Given the description of an element on the screen output the (x, y) to click on. 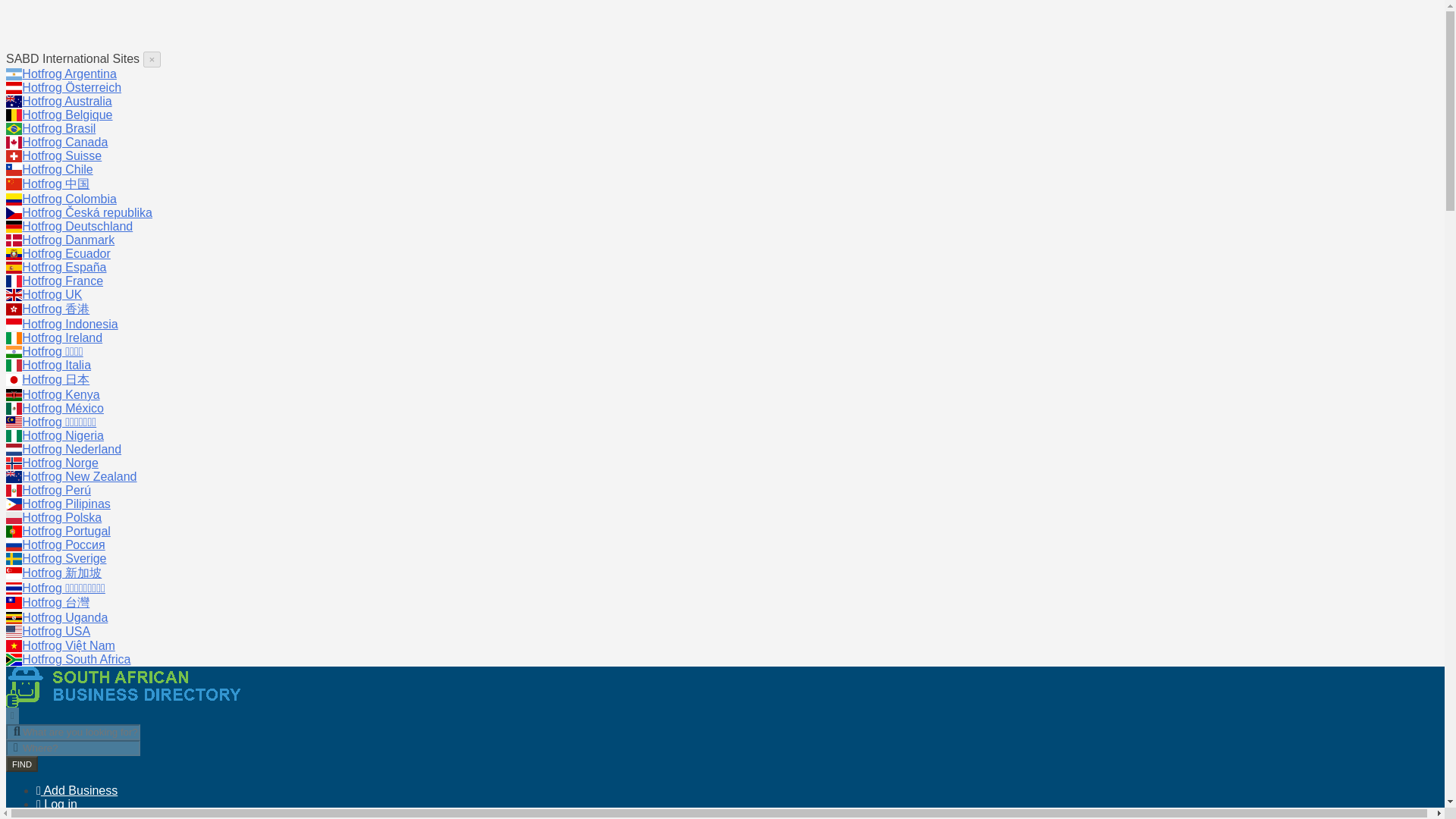
Hotfrog Norge (60, 462)
Hotfrog Brasil (58, 128)
Hotfrog Sverige (63, 558)
Hotfrog Portugal (65, 530)
Hotfrog Suisse (61, 155)
Hotfrog Nederland (70, 449)
Hotfrog Deutschland (76, 226)
Hotfrog Chile (57, 169)
Hotfrog Colombia (68, 198)
Hotfrog France (62, 280)
